Given the description of an element on the screen output the (x, y) to click on. 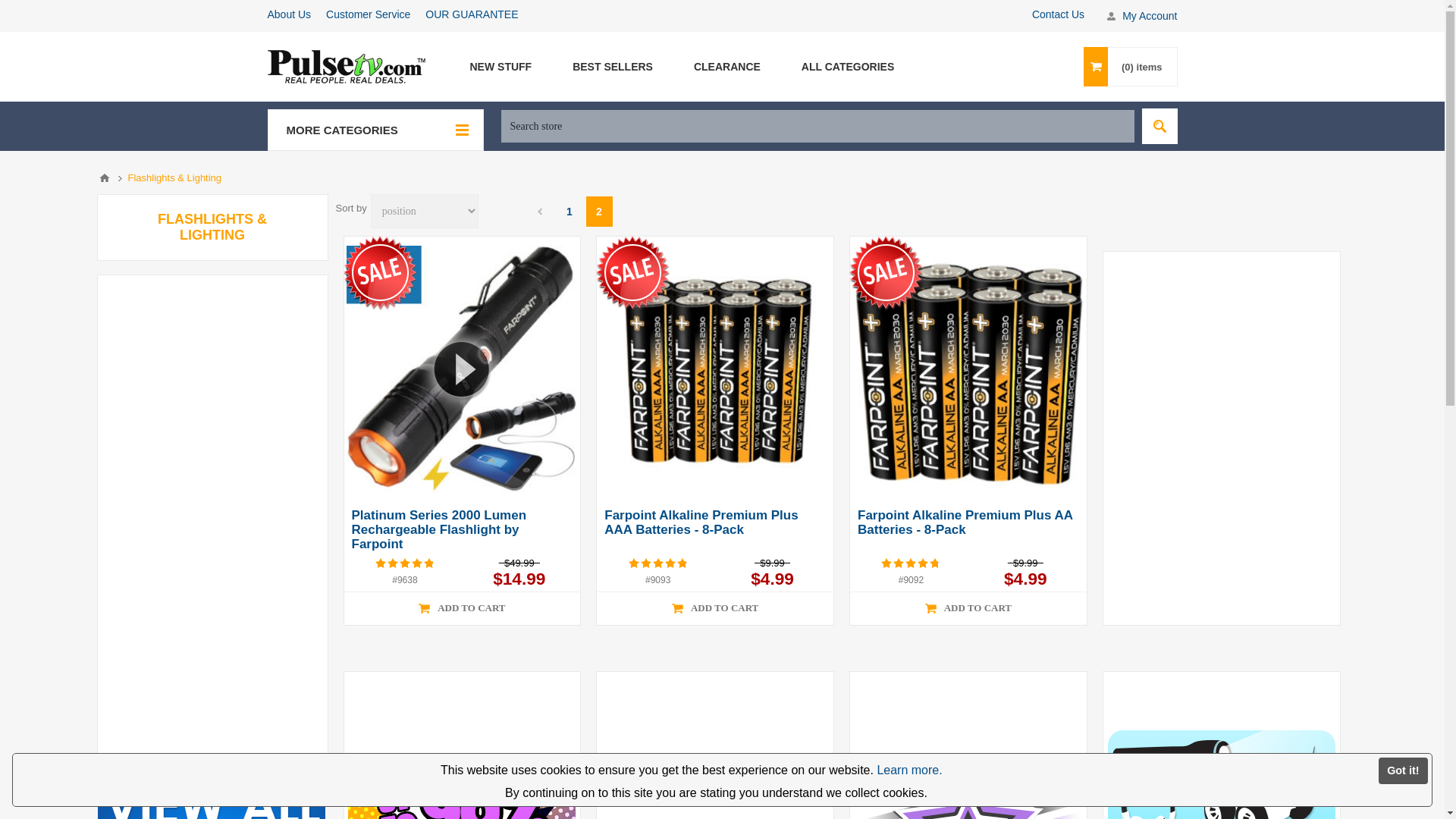
NEW STUFF (499, 66)
CLEARANCE (726, 66)
Quick View (461, 602)
CLEARANCE (726, 66)
Contact Us (1058, 14)
About Us (288, 14)
Advertisement (212, 514)
OUR GUARANTEE (471, 14)
All Categories (847, 66)
ALL CATEGORIES (847, 66)
BEST SELLERS (611, 66)
Got it! (1403, 769)
Customer Service (368, 14)
